Given the description of an element on the screen output the (x, y) to click on. 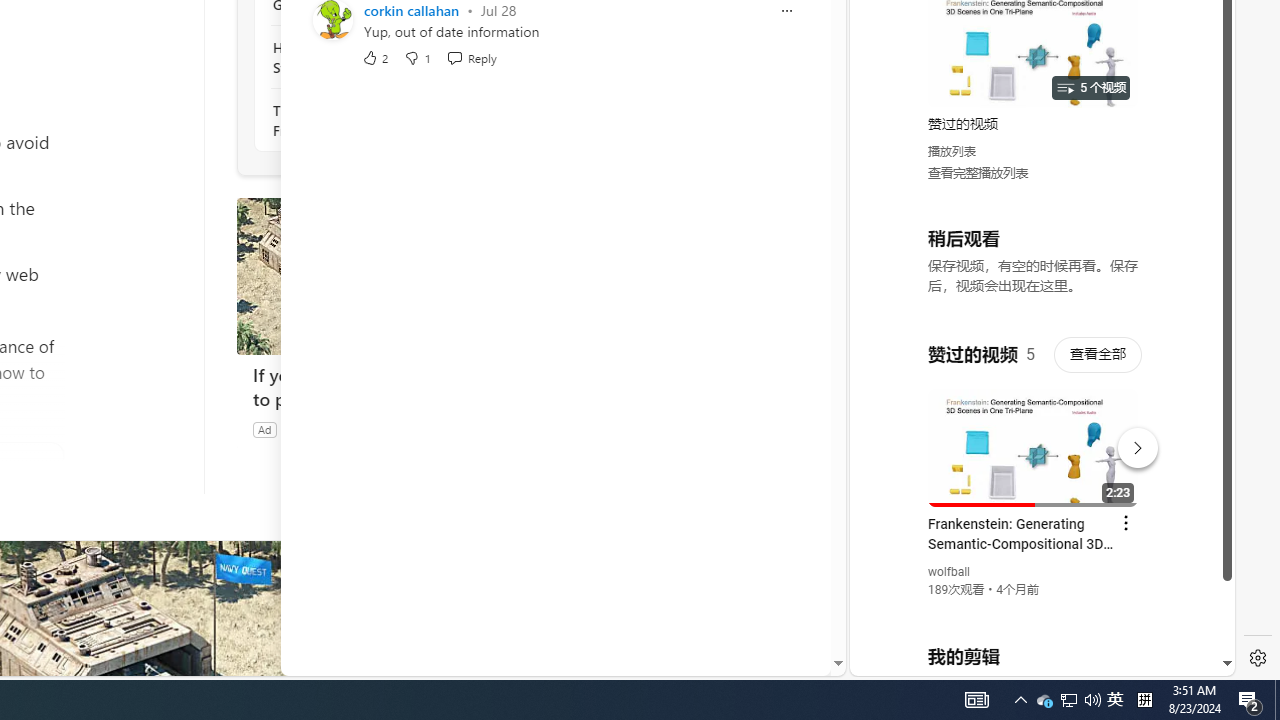
Dislike (417, 56)
Class: dict_pnIcon rms_img (1028, 660)
#you (1034, 439)
If you have a mouse, you have to play this game. (386, 276)
If you have a mouse, you have to play this game. (386, 386)
2 Like (375, 56)
corkin callahan (411, 10)
Click to scroll right (1196, 83)
Feedback (755, 659)
